Given the description of an element on the screen output the (x, y) to click on. 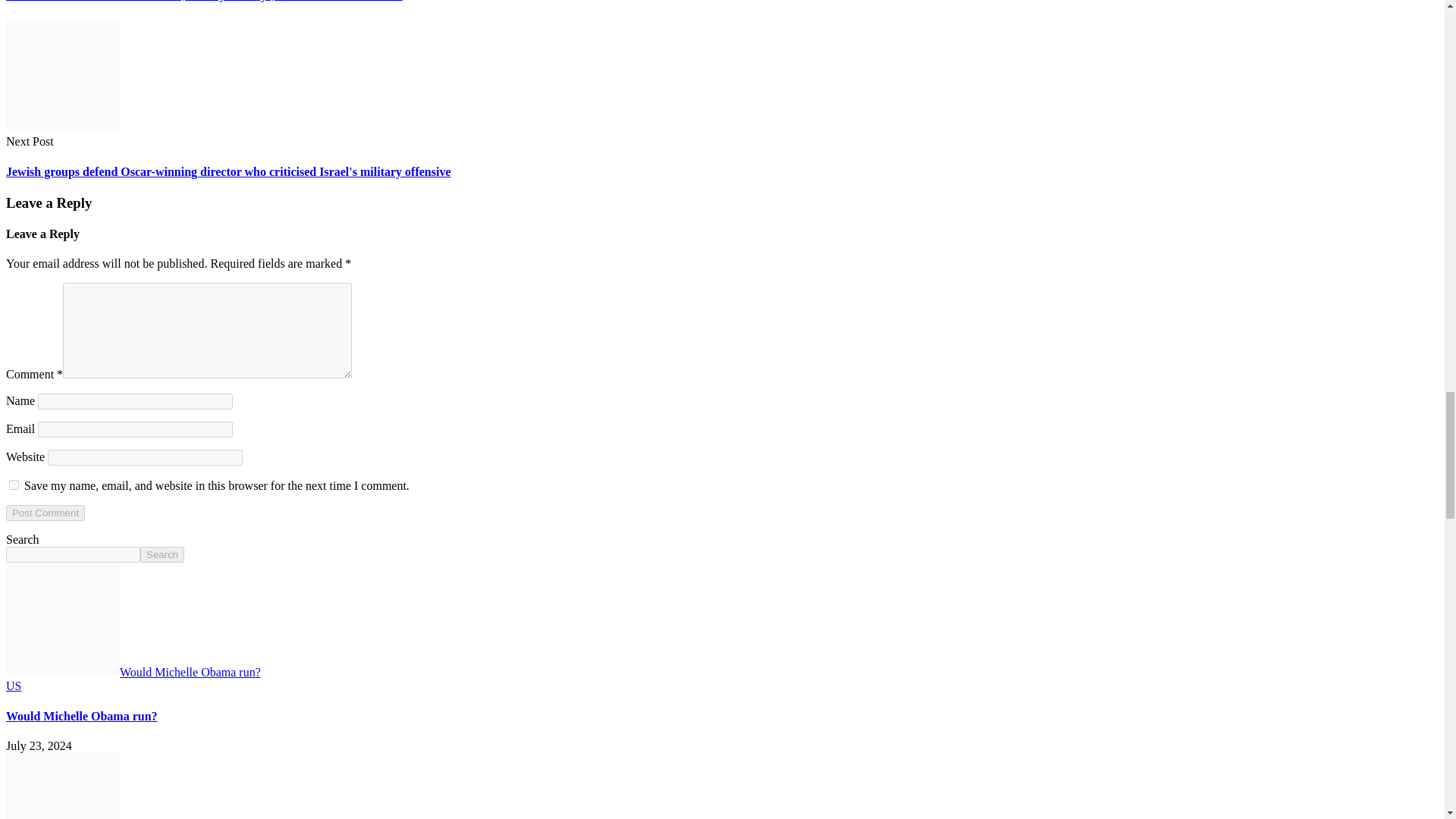
Post Comment (44, 512)
Post Comment (44, 512)
Search (161, 554)
yes (13, 484)
